Given the description of an element on the screen output the (x, y) to click on. 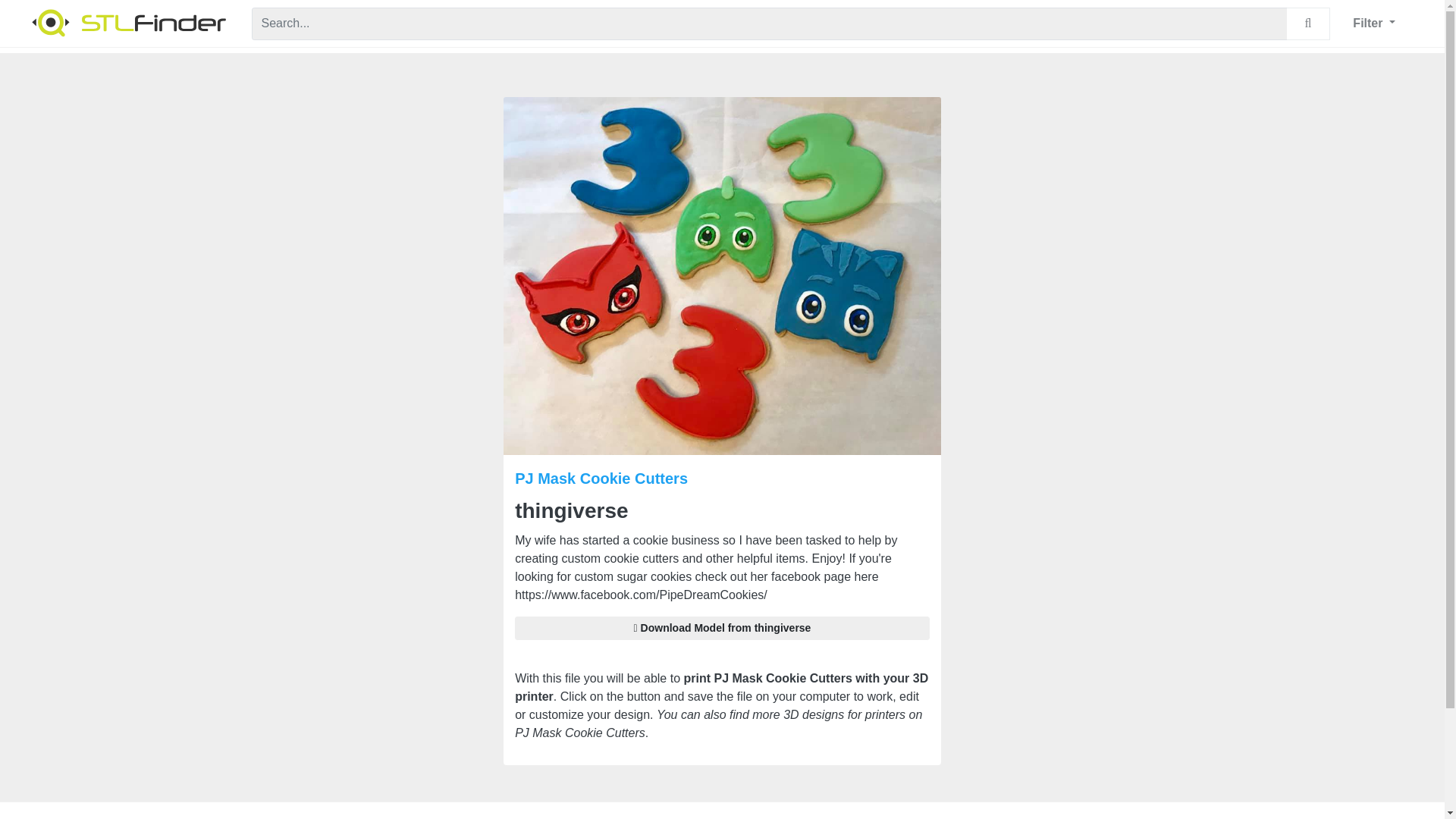
Filter (1373, 23)
Download Model from thingiverse (722, 627)
